Given the description of an element on the screen output the (x, y) to click on. 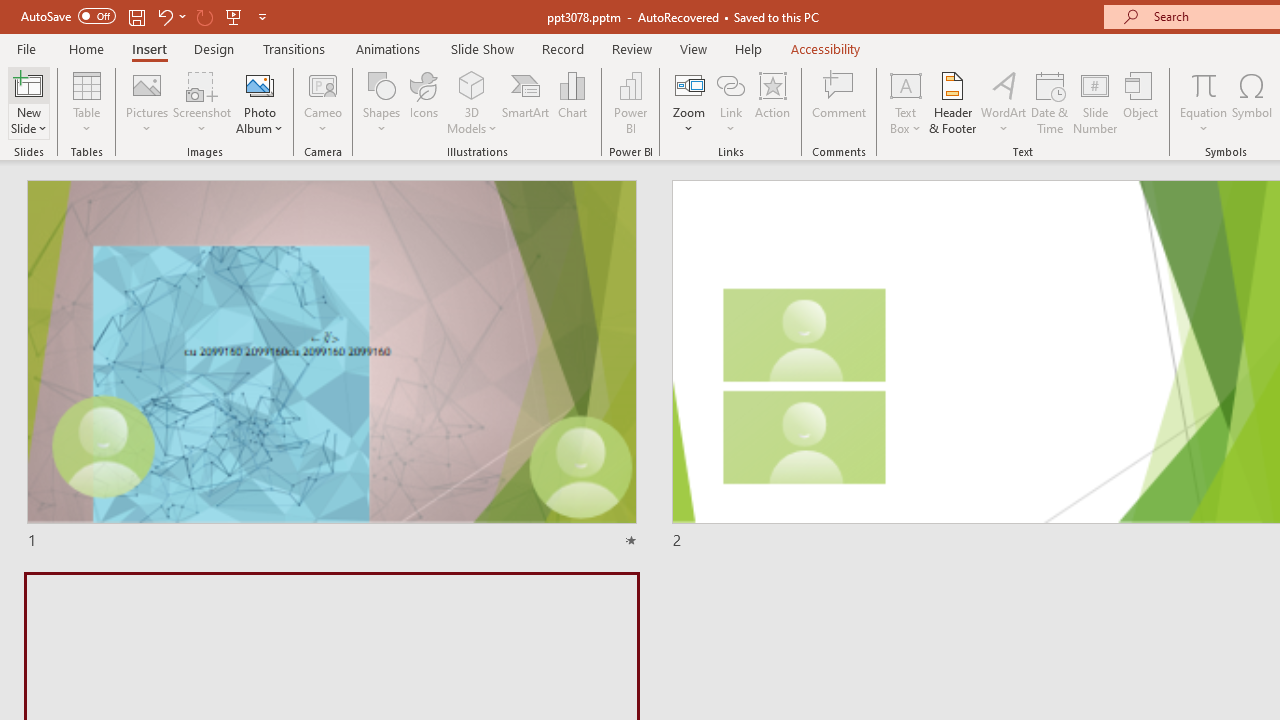
Slide Number (1095, 102)
SmartArt... (525, 102)
Link (731, 102)
3D Models (472, 102)
Power BI (630, 102)
